Given the description of an element on the screen output the (x, y) to click on. 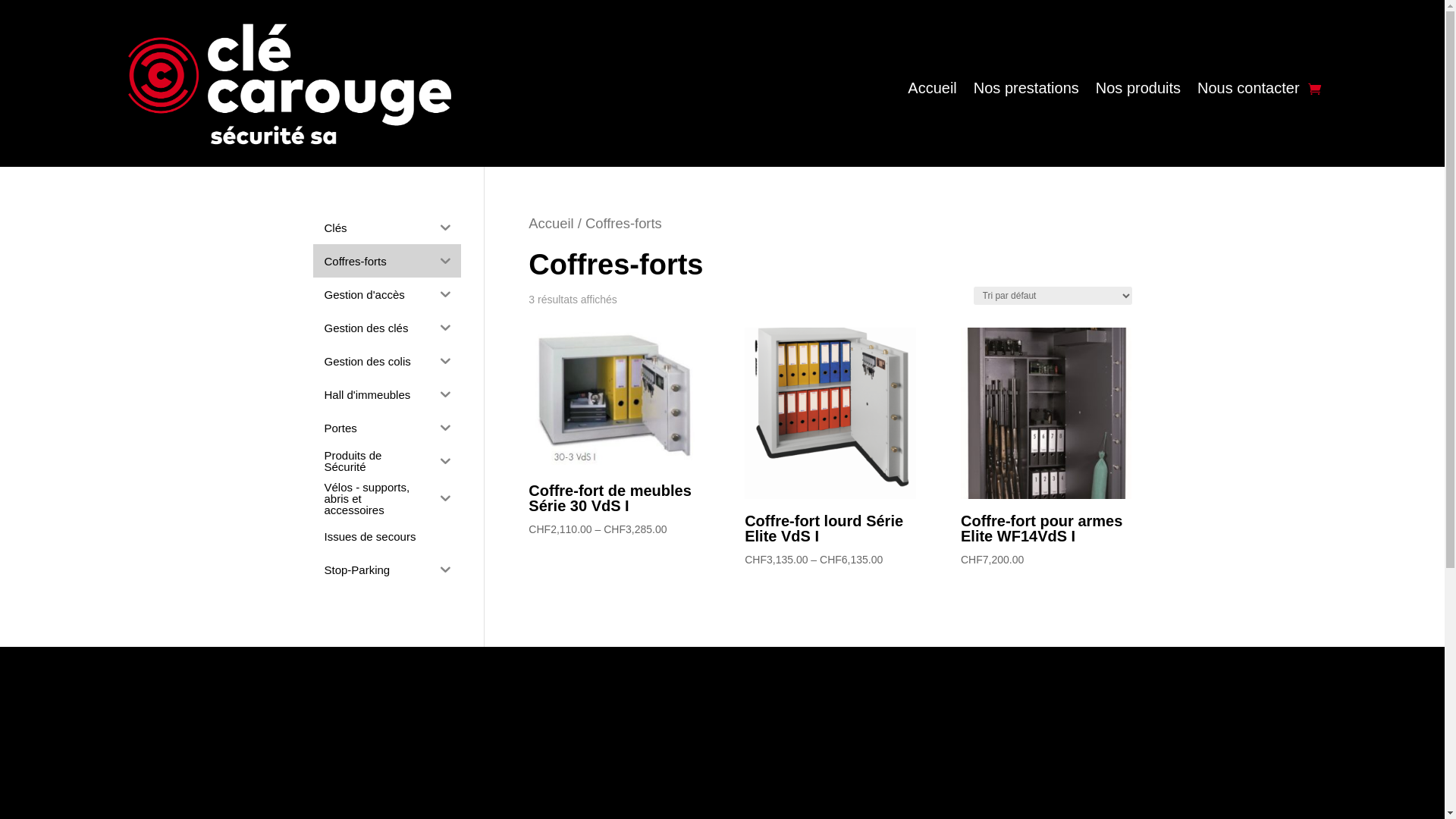
Stop-Parking Element type: text (370, 569)
Nos produits Element type: text (1137, 92)
logo_NEGATIF Element type: hover (289, 84)
Gestion des colis Element type: text (370, 360)
Issues de secours Element type: text (386, 535)
Coffres-forts Element type: text (370, 260)
Accueil Element type: text (550, 223)
Portes Element type: text (370, 427)
Nos prestations Element type: text (1026, 92)
Coffre-fort pour armes Elite WF14VdS I
CHF7,200.00 Element type: text (1045, 447)
Nous contacter Element type: text (1248, 92)
Accueil Element type: text (931, 92)
Hall d'immeubles Element type: text (370, 394)
